Given the description of an element on the screen output the (x, y) to click on. 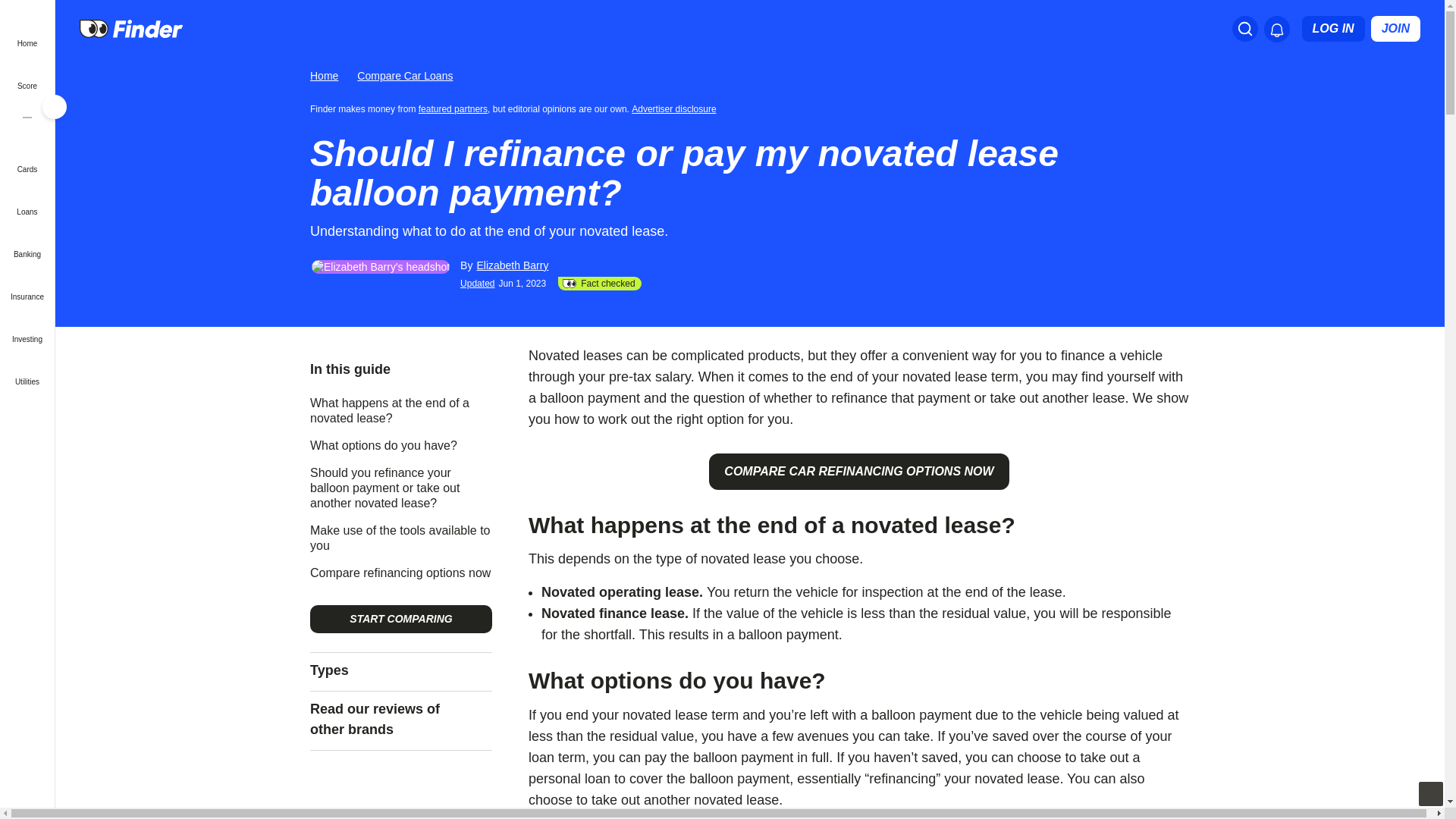
Important information about this website (676, 108)
